Given the description of an element on the screen output the (x, y) to click on. 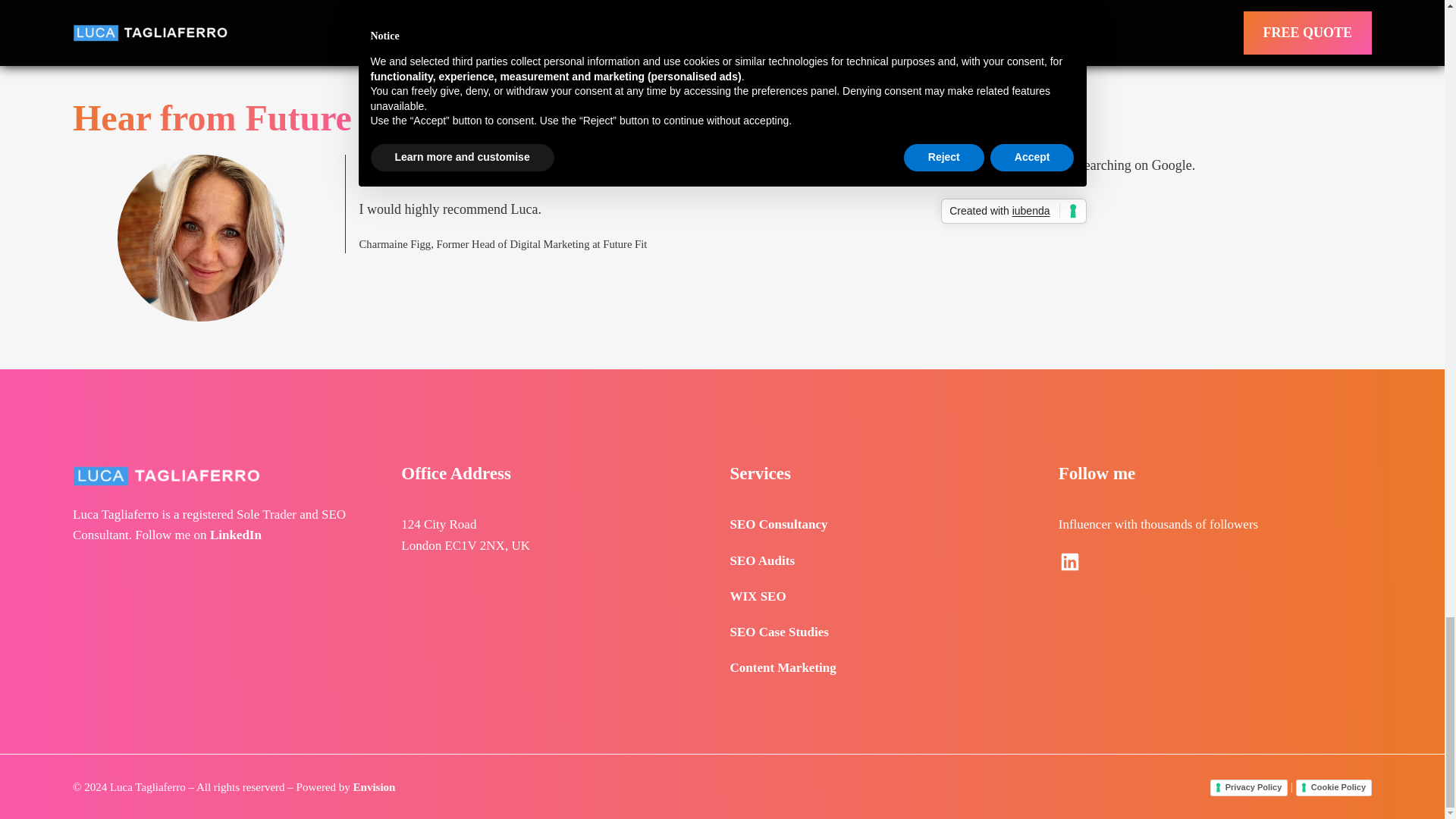
LinkedIn (235, 534)
SEO Audits (761, 560)
Privacy Policy (1248, 787)
LinkedIn (1069, 561)
Envision (374, 787)
Cookie Policy (1333, 787)
Cookie Policy  (1333, 787)
Privacy Policy  (1248, 787)
WIX SEO (757, 595)
SEO Case Studies (778, 631)
Content Marketing (782, 667)
SEO Consultancy (778, 523)
